Given the description of an element on the screen output the (x, y) to click on. 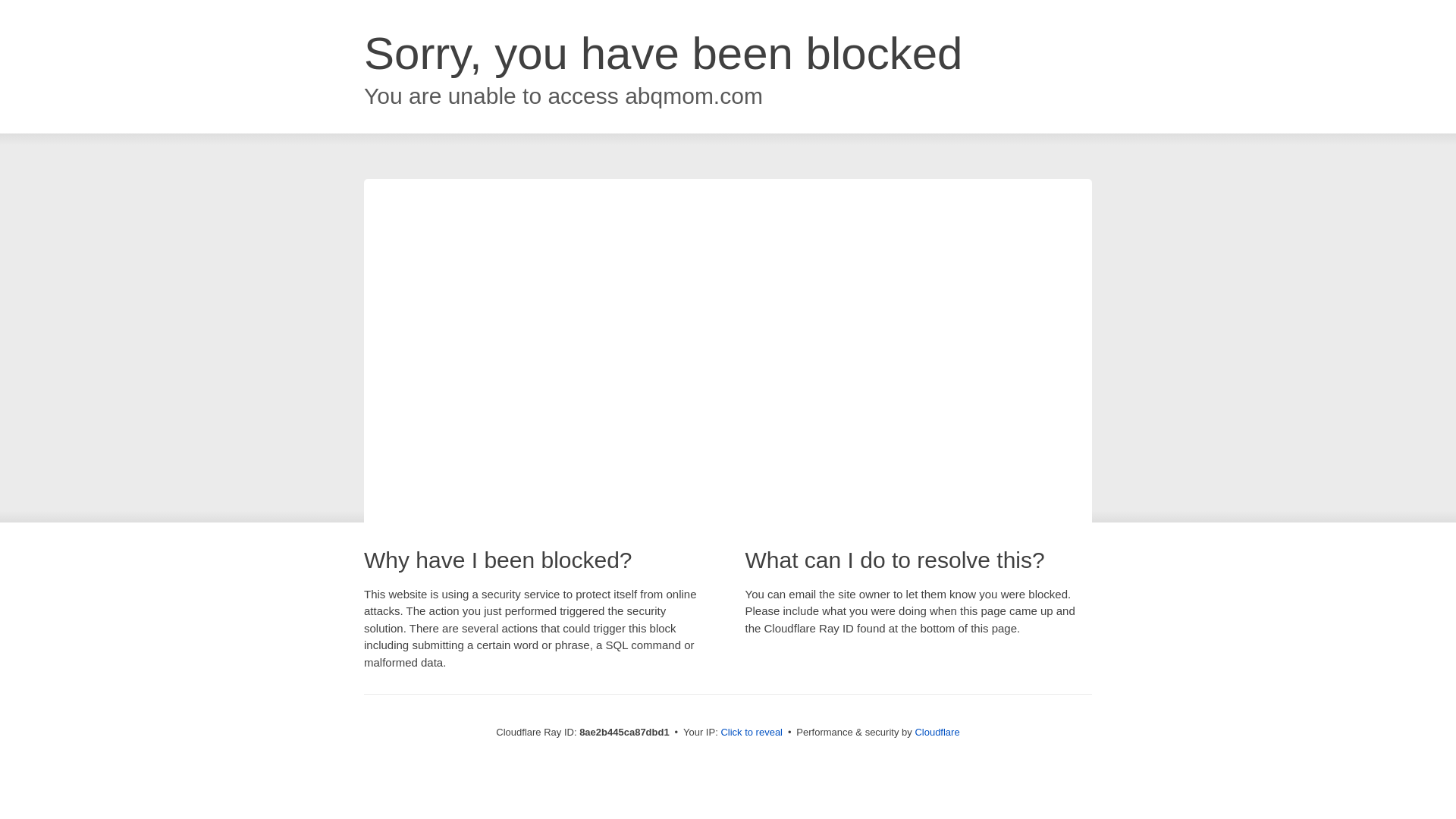
Cloudflare (936, 731)
Click to reveal (751, 732)
